Given the description of an element on the screen output the (x, y) to click on. 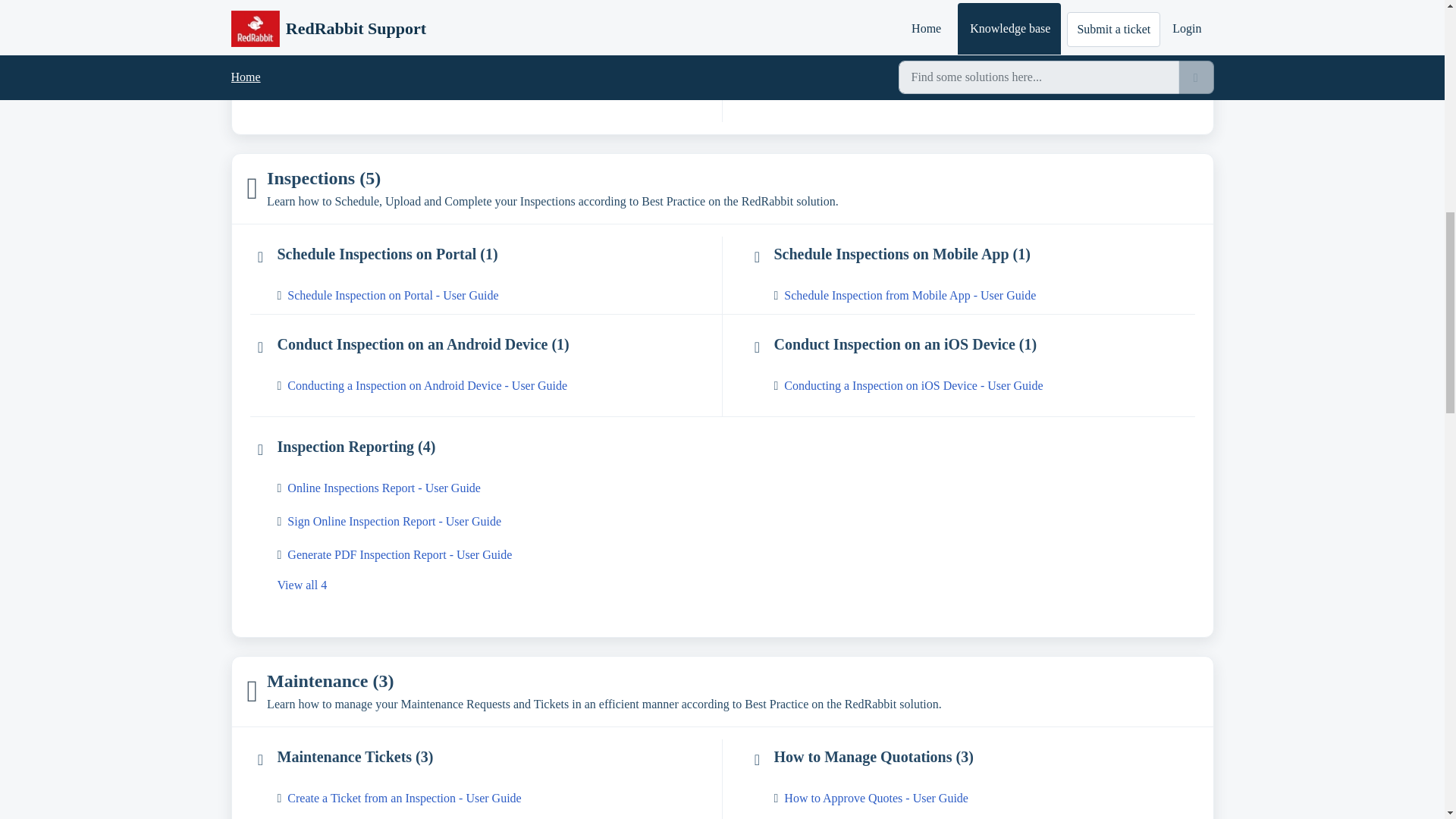
Contacts Setup - User Guide (983, 58)
Service Provider Setup - User Guide (497, 58)
Schedule Inspection on Portal - User Guide (497, 295)
Import Service Providers - User Guide (497, 91)
